Given the description of an element on the screen output the (x, y) to click on. 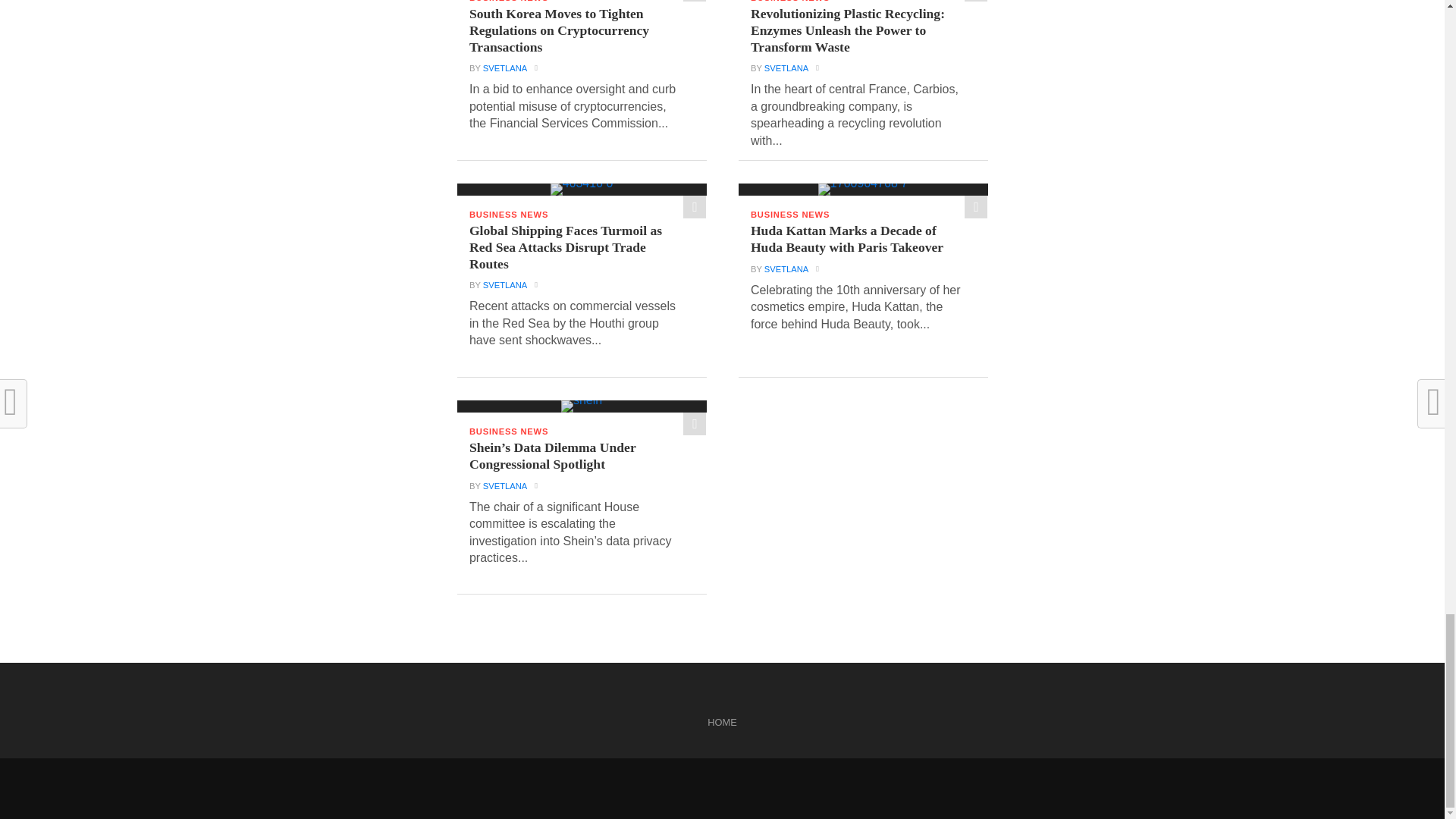
Posts by svetlana (786, 67)
SVETLANA (505, 67)
Posts by svetlana (505, 67)
SVETLANA (786, 67)
SVETLANA (505, 284)
